Given the description of an element on the screen output the (x, y) to click on. 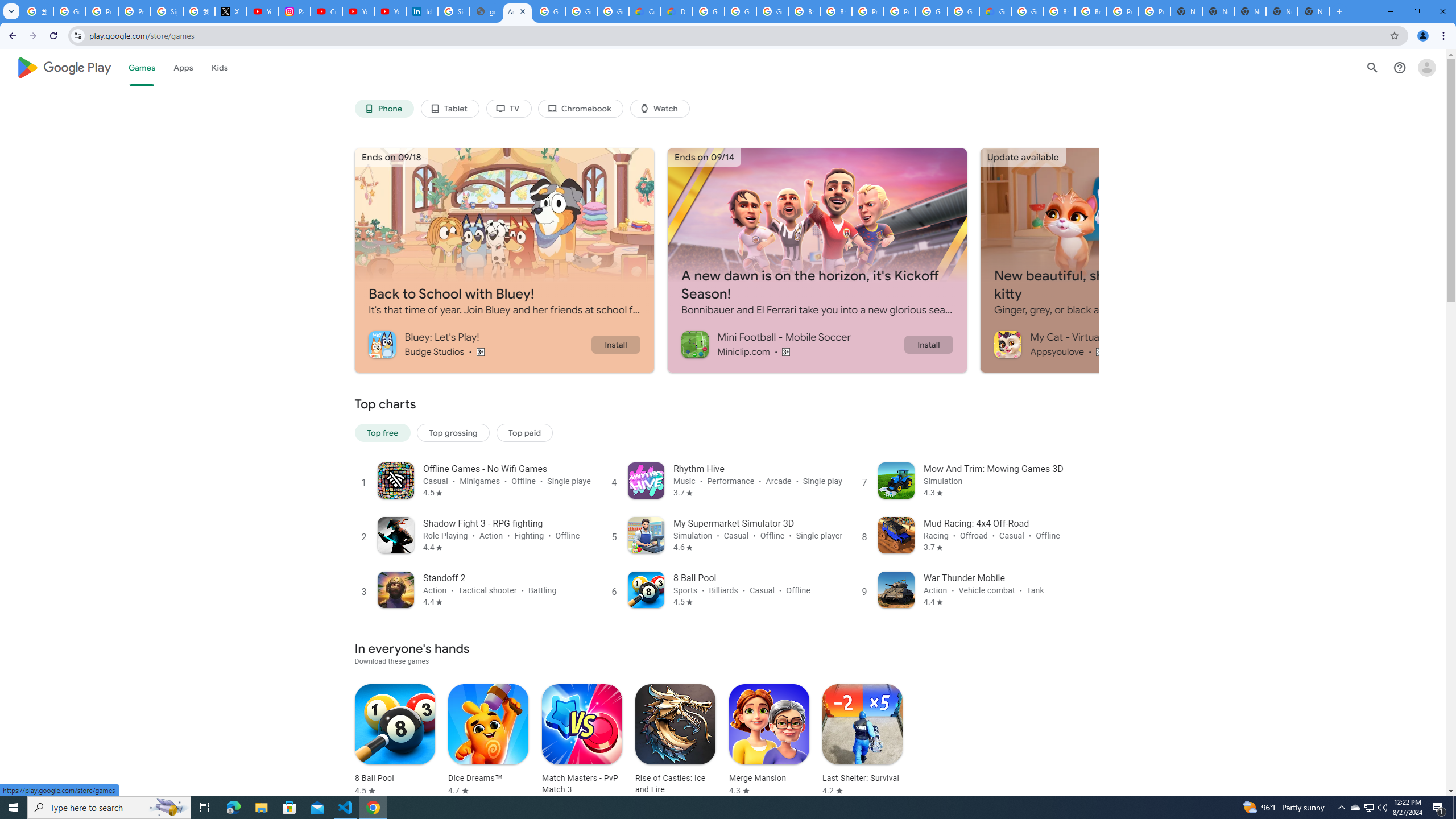
Watch (660, 108)
Apps (182, 67)
Sign in - Google Accounts (166, 11)
Google Cloud Platform (1027, 11)
Kids (219, 67)
